Given the description of an element on the screen output the (x, y) to click on. 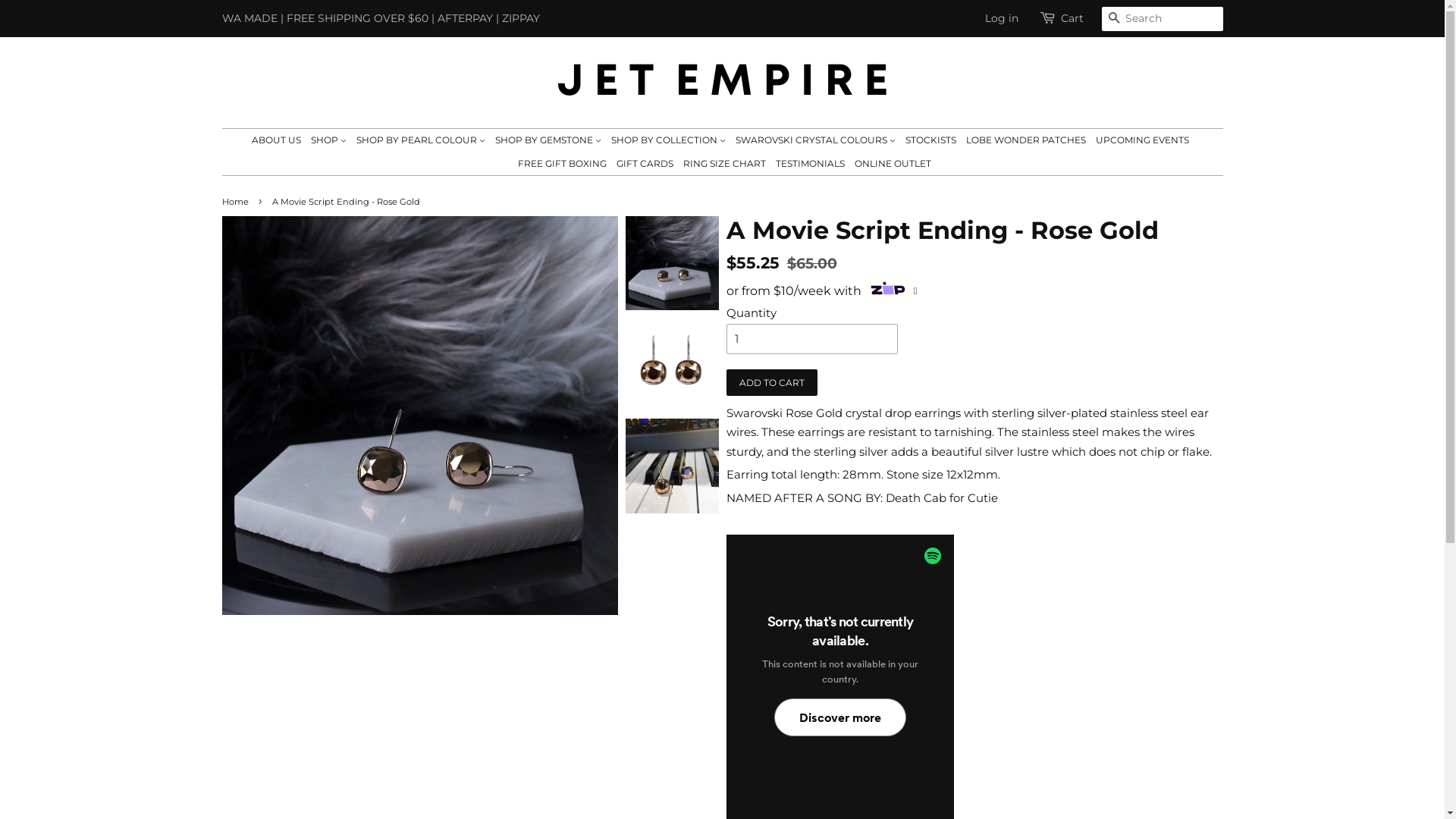
ADD TO CART Element type: text (771, 382)
LOBE WONDER PATCHES Element type: text (1025, 139)
SHOP BY PEARL COLOUR Element type: text (420, 139)
UPCOMING EVENTS Element type: text (1142, 139)
STOCKISTS Element type: text (930, 139)
ONLINE OUTLET Element type: text (890, 163)
SHOP BY COLLECTION Element type: text (668, 139)
TESTIMONIALS Element type: text (809, 163)
RING SIZE CHART Element type: text (724, 163)
Log in Element type: text (1000, 18)
FREE GIFT BOXING Element type: text (562, 163)
SEARCH Element type: text (1113, 18)
Cart Element type: text (1071, 18)
SWAROVSKI CRYSTAL COLOURS Element type: text (815, 139)
SHOP Element type: text (328, 139)
GIFT CARDS Element type: text (644, 163)
SHOP BY GEMSTONE Element type: text (548, 139)
Home Element type: text (236, 201)
ABOUT US Element type: text (277, 139)
